Given the description of an element on the screen output the (x, y) to click on. 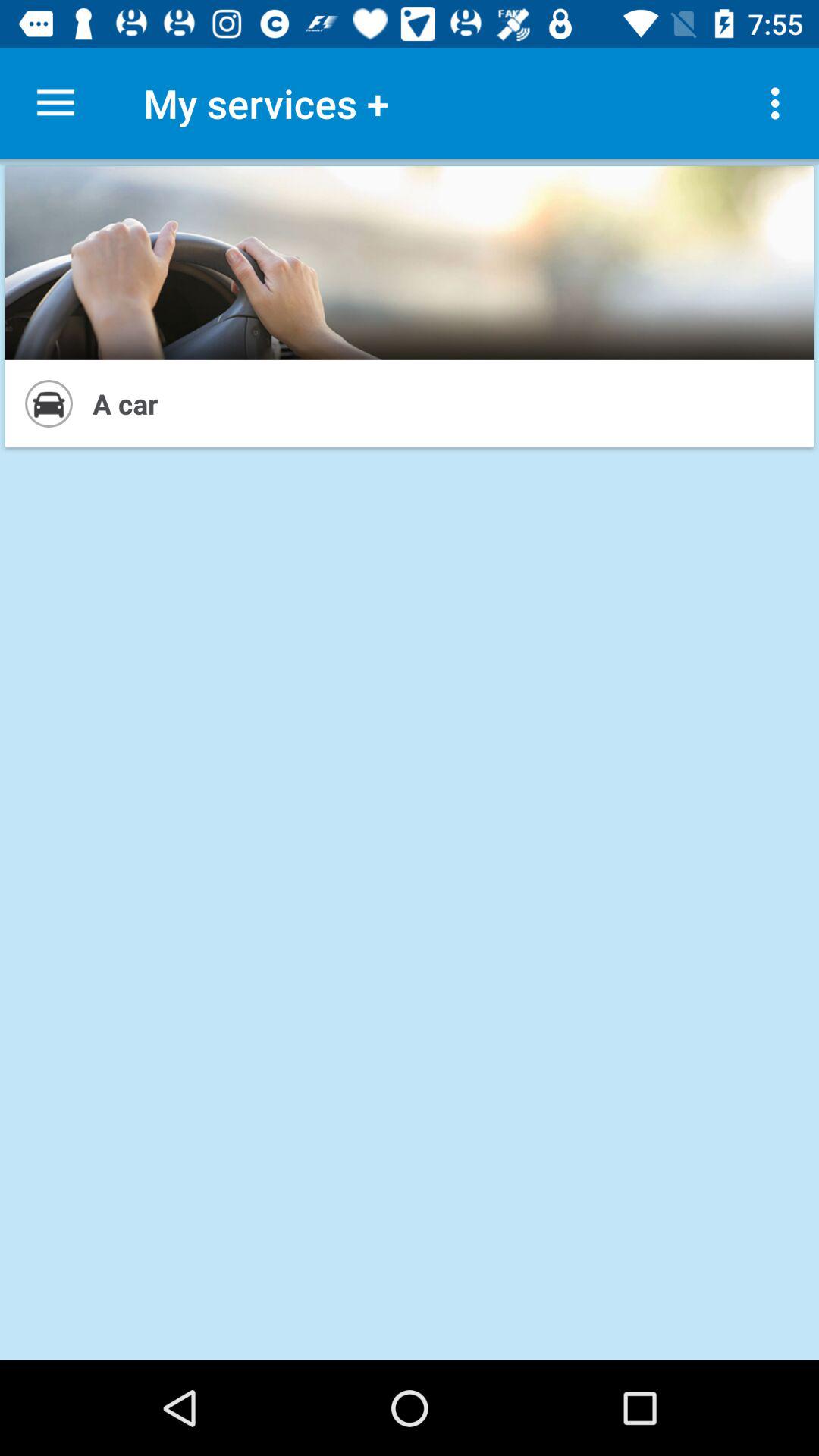
choose icon at the top right corner (779, 103)
